Given the description of an element on the screen output the (x, y) to click on. 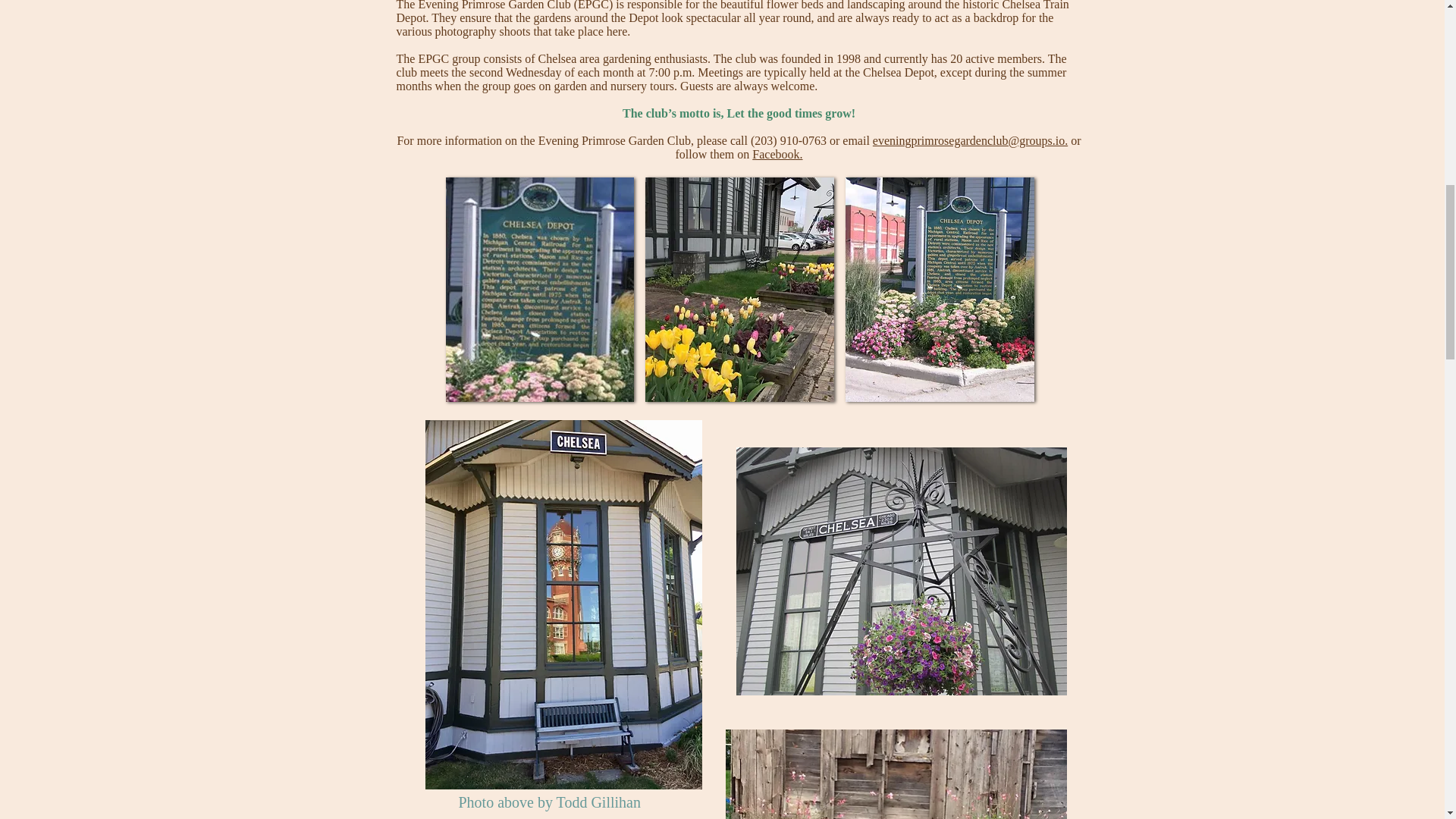
Facebook. (777, 154)
